Given the description of an element on the screen output the (x, y) to click on. 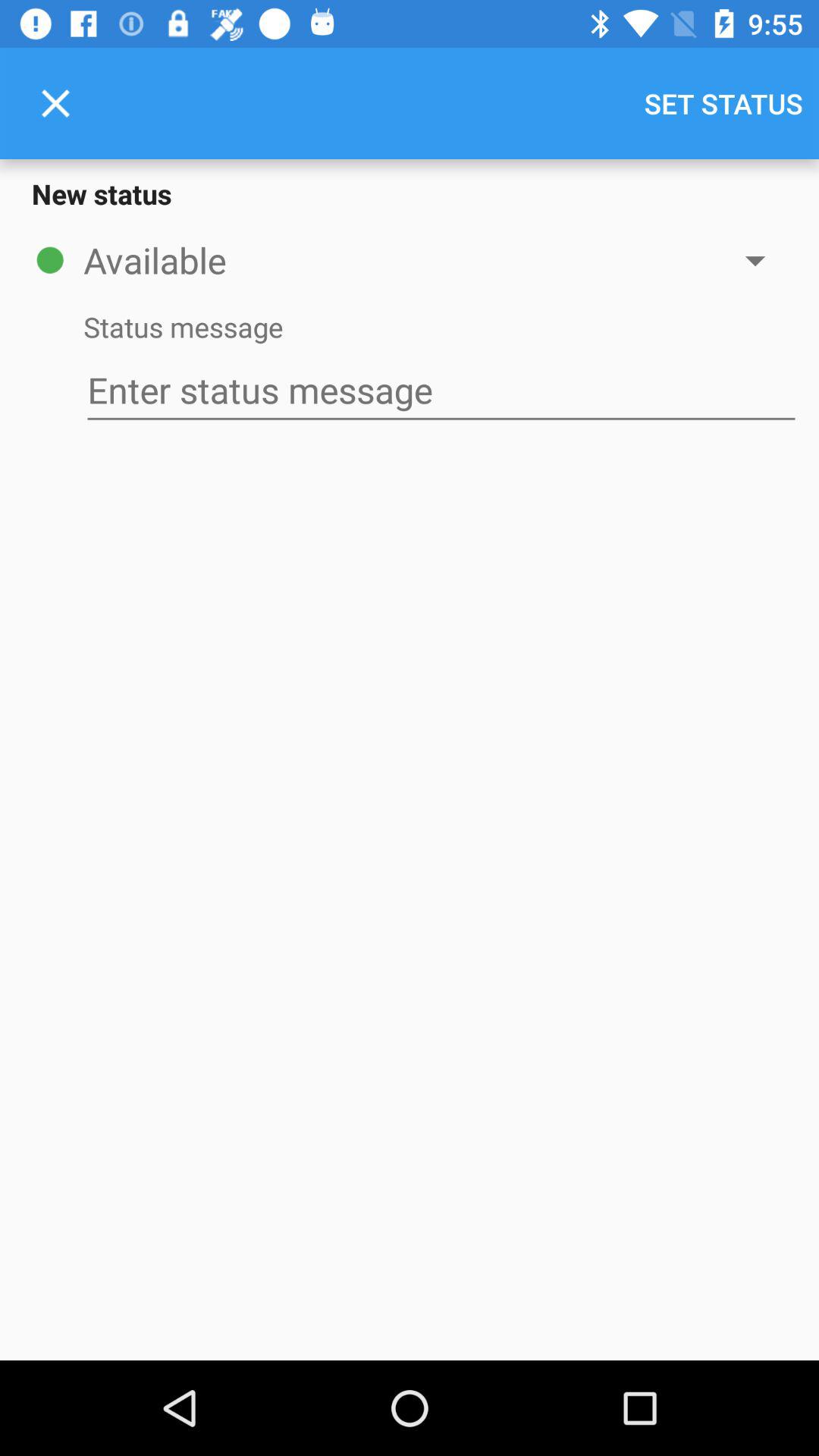
launch the item next to set status item (55, 103)
